Given the description of an element on the screen output the (x, y) to click on. 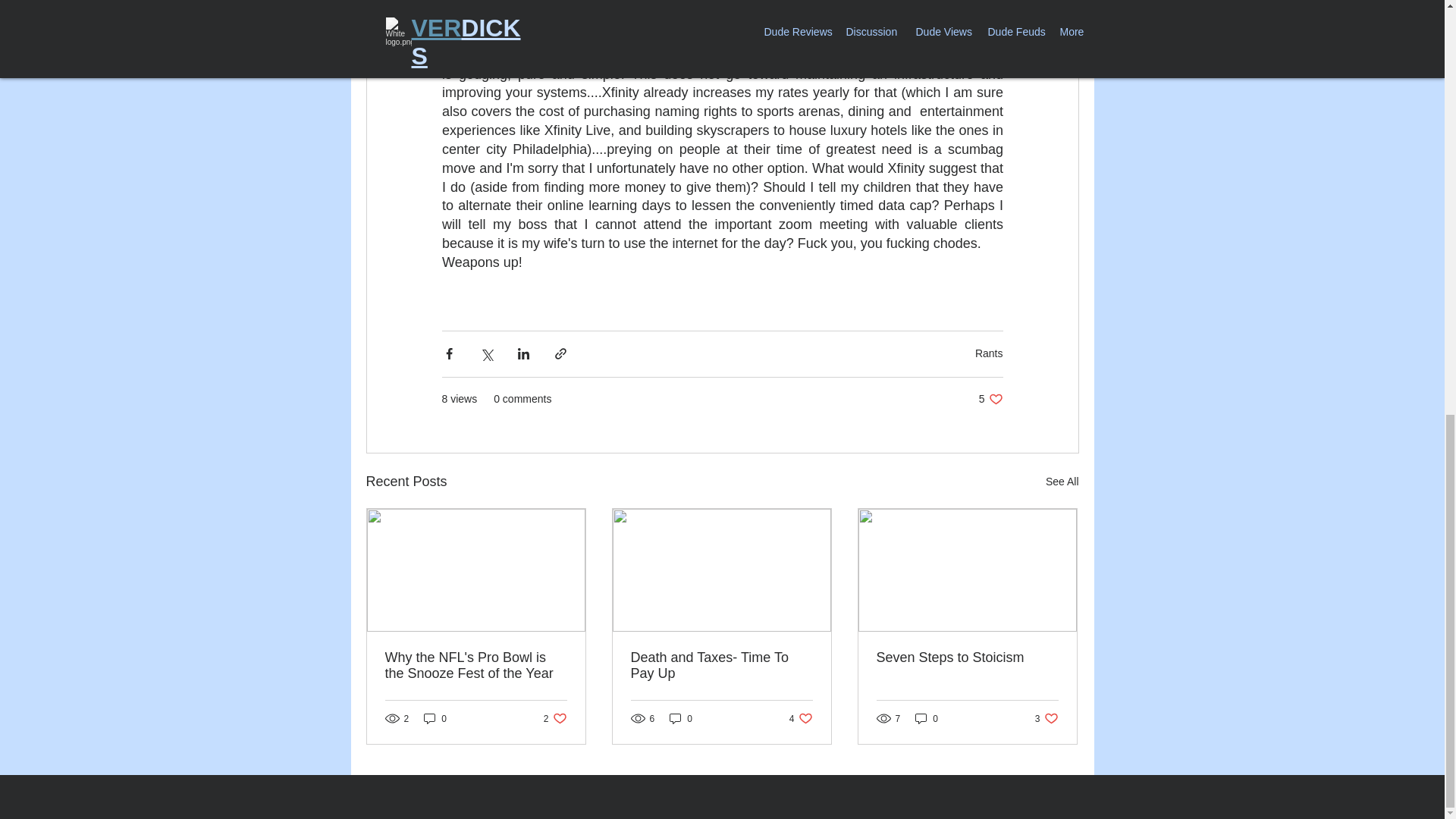
Death and Taxes- Time To Pay Up (800, 718)
0 (721, 665)
0 (435, 718)
Rants (926, 718)
See All (1046, 718)
Seven Steps to Stoicism (989, 353)
Why the NFL's Pro Bowl is the Snooze Fest of the Year (555, 718)
